Given the description of an element on the screen output the (x, y) to click on. 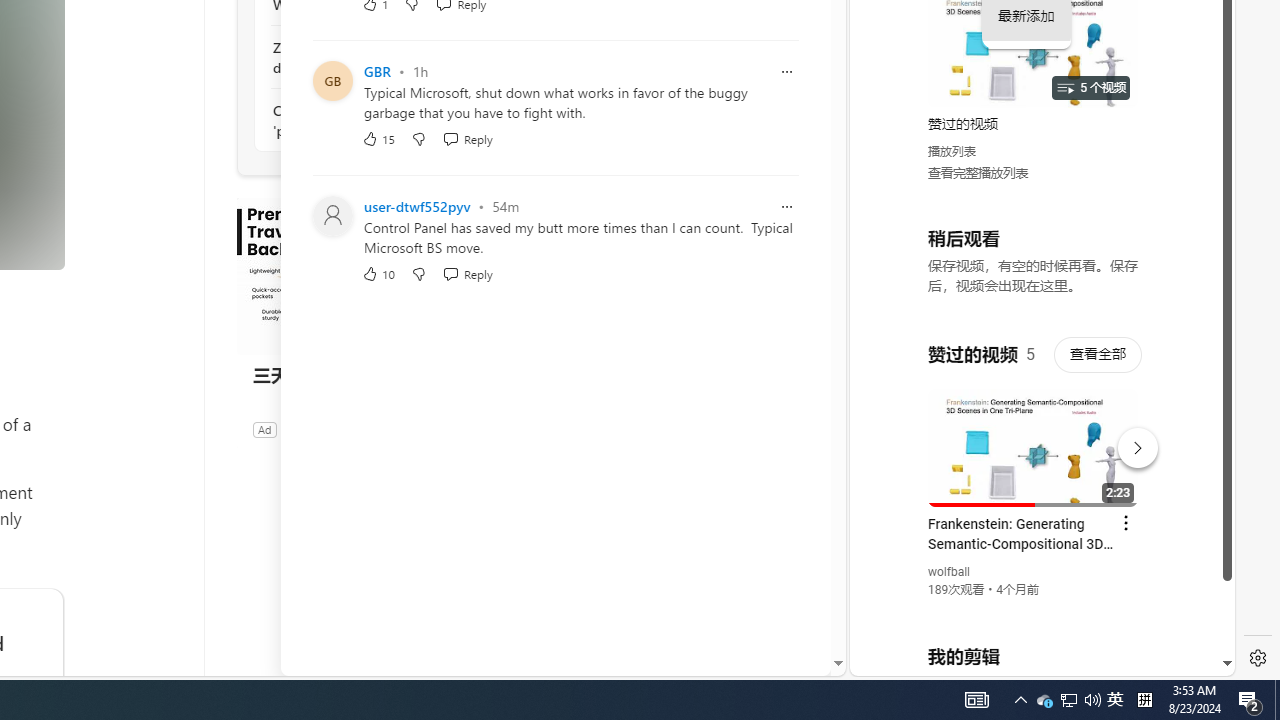
10 Like (378, 272)
Actions for this site (1131, 443)
user-dtwf552pyv (417, 205)
Profile Picture (333, 215)
Profile Picture (333, 215)
you (1034, 609)
wolfball (949, 572)
Reply Reply Comment (466, 272)
